Given the description of an element on the screen output the (x, y) to click on. 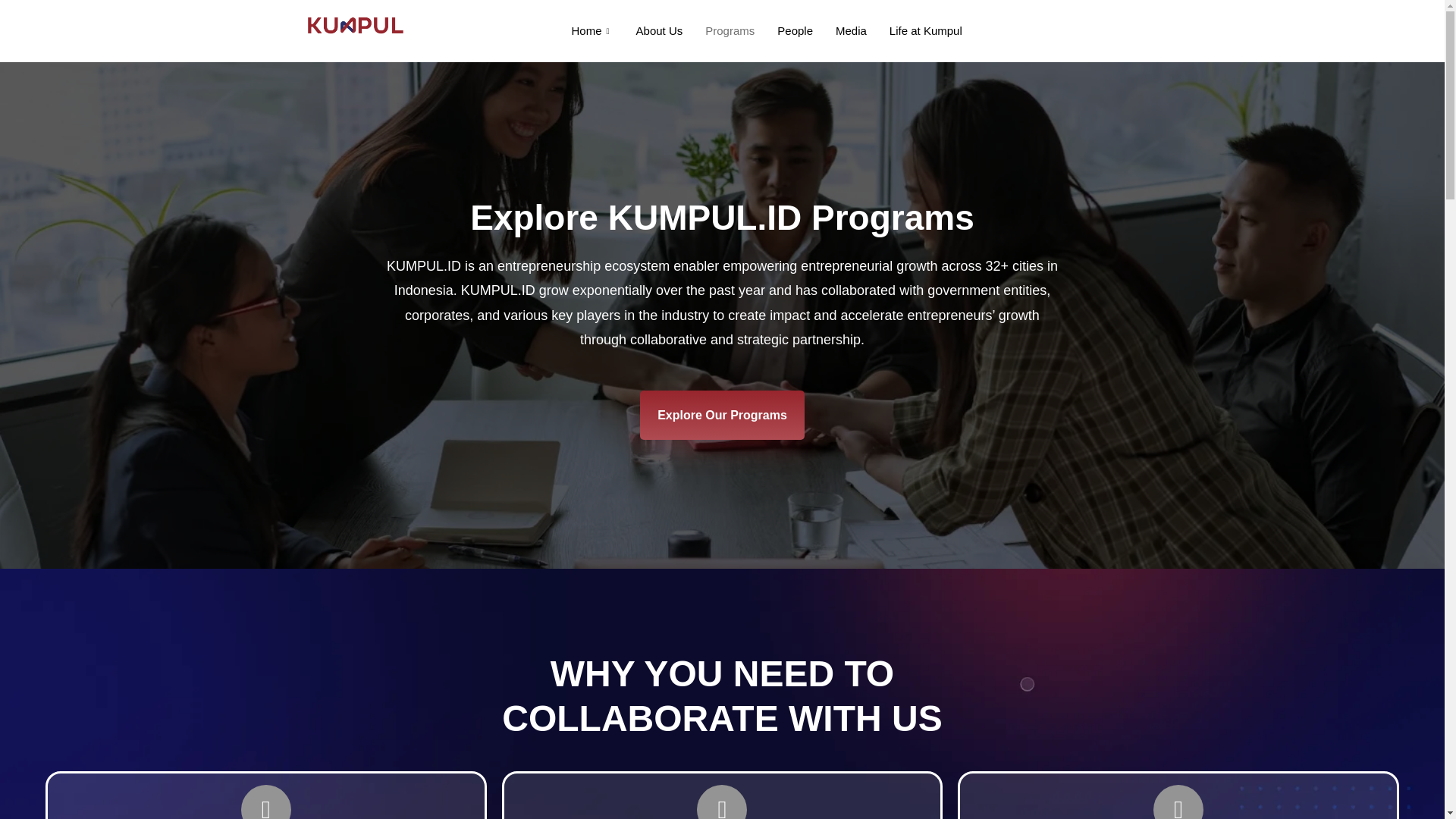
People (794, 30)
Home (591, 30)
Media (850, 30)
Explore Our Programs (722, 415)
Programs (729, 30)
Life at Kumpul (925, 30)
About Us (659, 30)
